Given the description of an element on the screen output the (x, y) to click on. 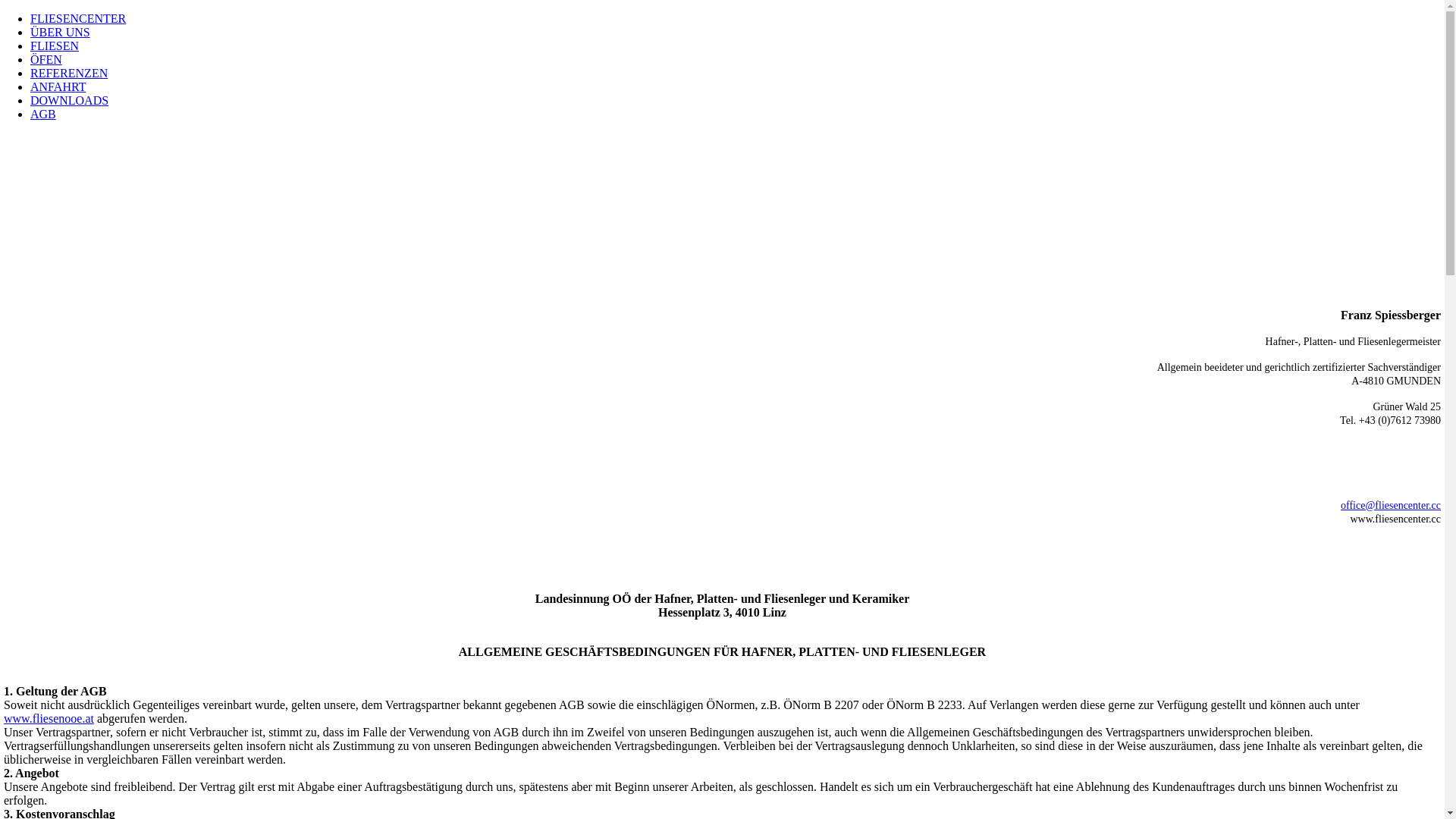
office@fliesencenter.cc Element type: text (1390, 504)
www.fliesenooe.at Element type: text (48, 718)
REFERENZEN Element type: text (68, 72)
FLIESEN Element type: text (54, 45)
DOWNLOADS Element type: text (69, 100)
FLIESENCENTER Element type: text (77, 18)
AGB Element type: text (43, 113)
ANFAHRT Element type: text (57, 86)
